Given the description of an element on the screen output the (x, y) to click on. 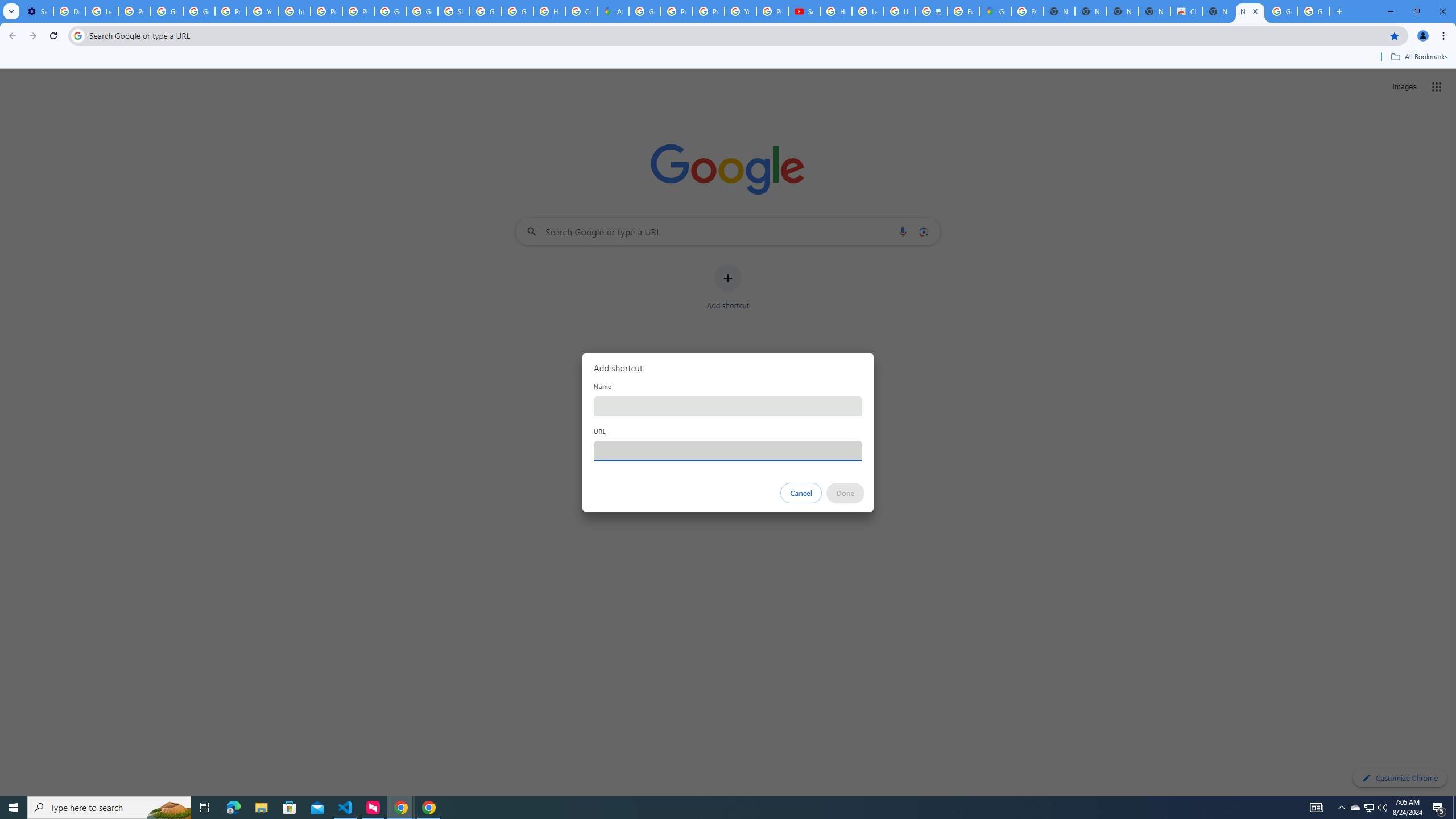
Google Images (1313, 11)
How Chrome protects your passwords - Google Chrome Help (836, 11)
Google Account Help (166, 11)
https://scholar.google.com/ (294, 11)
Reload (52, 35)
Learn how to find your photos - Google Photos Help (101, 11)
Privacy Help Center - Policies Help (676, 11)
Sign in - Google Accounts (453, 11)
Search tabs (10, 11)
Google Account Help (198, 11)
